Given the description of an element on the screen output the (x, y) to click on. 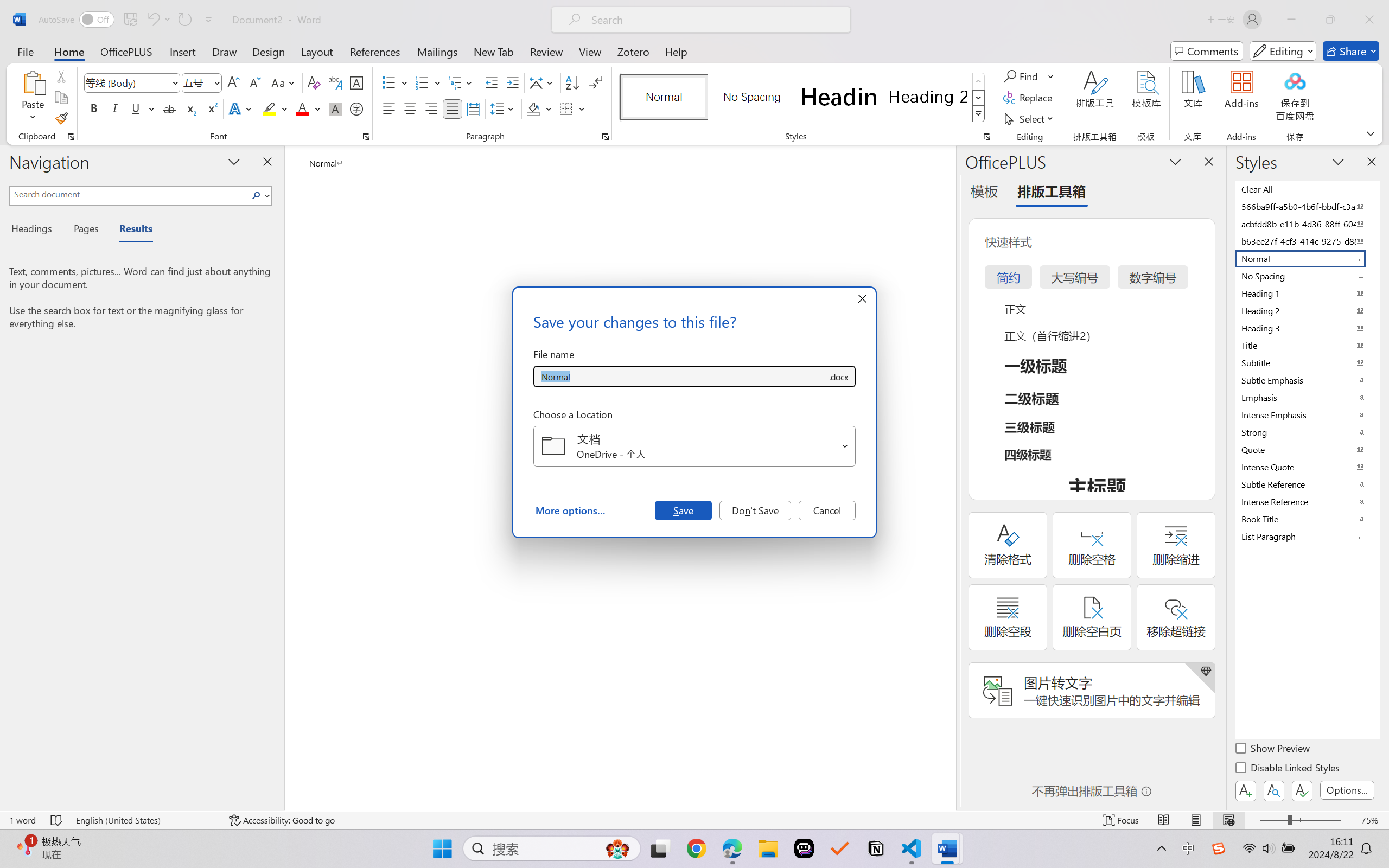
Google Chrome (696, 848)
Ribbon Display Options (1370, 132)
Subtitle (1306, 362)
Asian Layout (542, 82)
Insert (182, 51)
No Spacing (1306, 275)
Search (256, 195)
Multilevel List (461, 82)
Undo Apply Quick Style (152, 19)
Class: NetUIImage (978, 114)
